Given the description of an element on the screen output the (x, y) to click on. 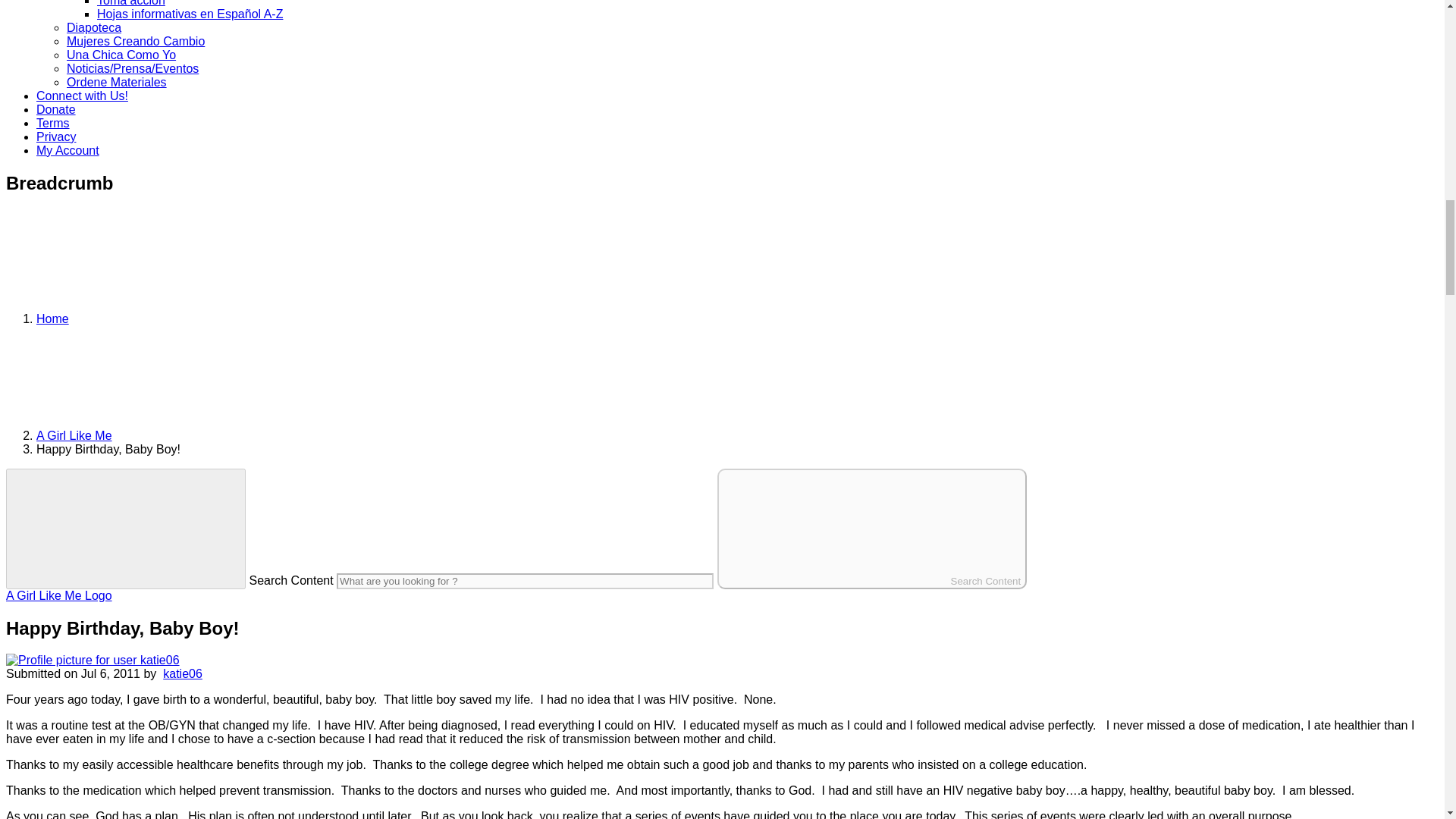
View user profile. (182, 673)
Close search window (125, 527)
Close search window (125, 528)
